Given the description of an element on the screen output the (x, y) to click on. 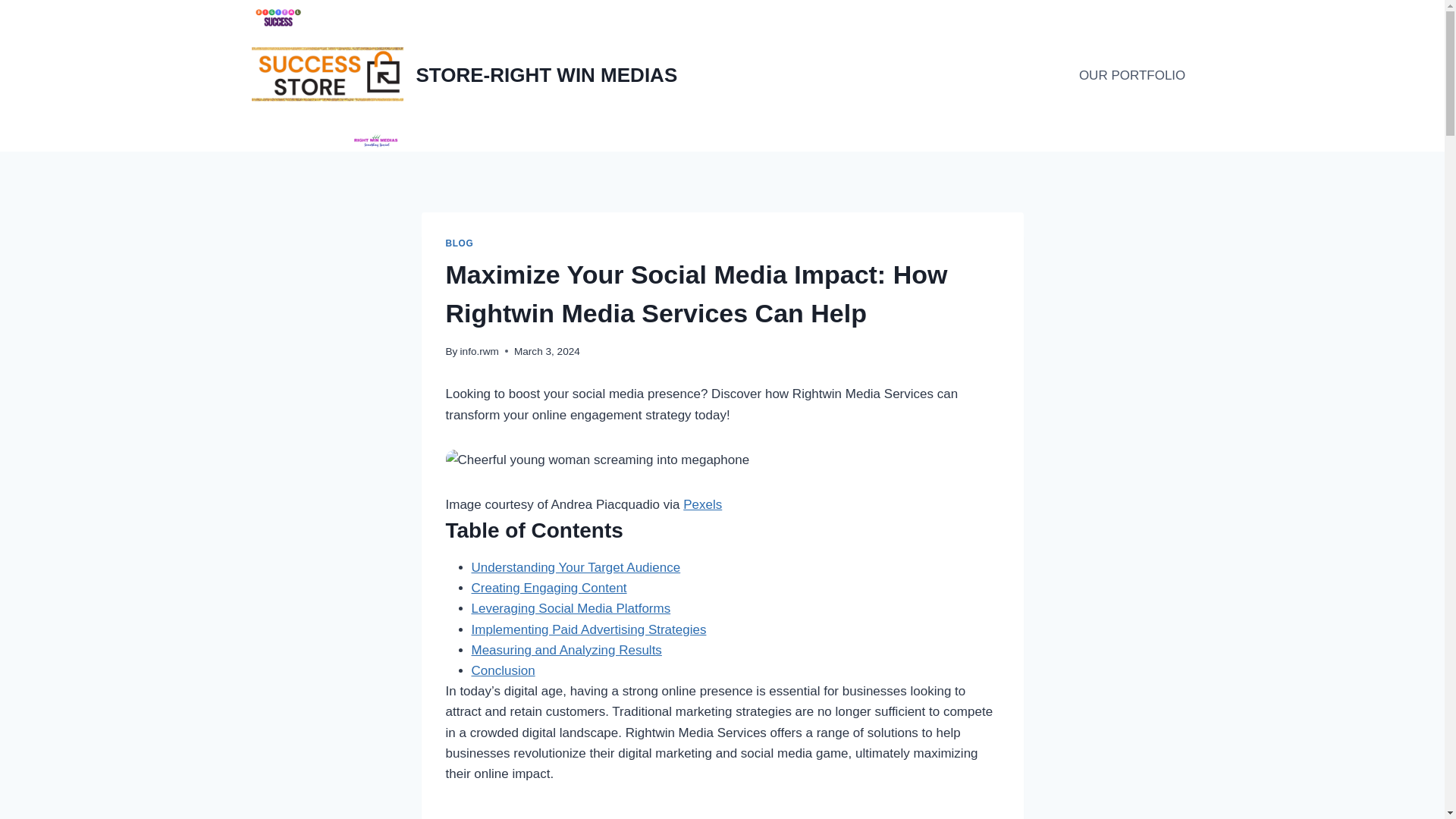
Creating Engaging Content (549, 587)
Pexels (702, 504)
OUR PORTFOLIO (1132, 75)
Implementing Paid Advertising Strategies (588, 629)
Measuring and Analyzing Results (566, 649)
STORE-RIGHT WIN MEDIAS (464, 75)
Conclusion (503, 670)
BLOG (459, 243)
Leveraging Social Media Platforms (571, 608)
info.rwm (479, 351)
Understanding Your Target Audience (576, 567)
